Given the description of an element on the screen output the (x, y) to click on. 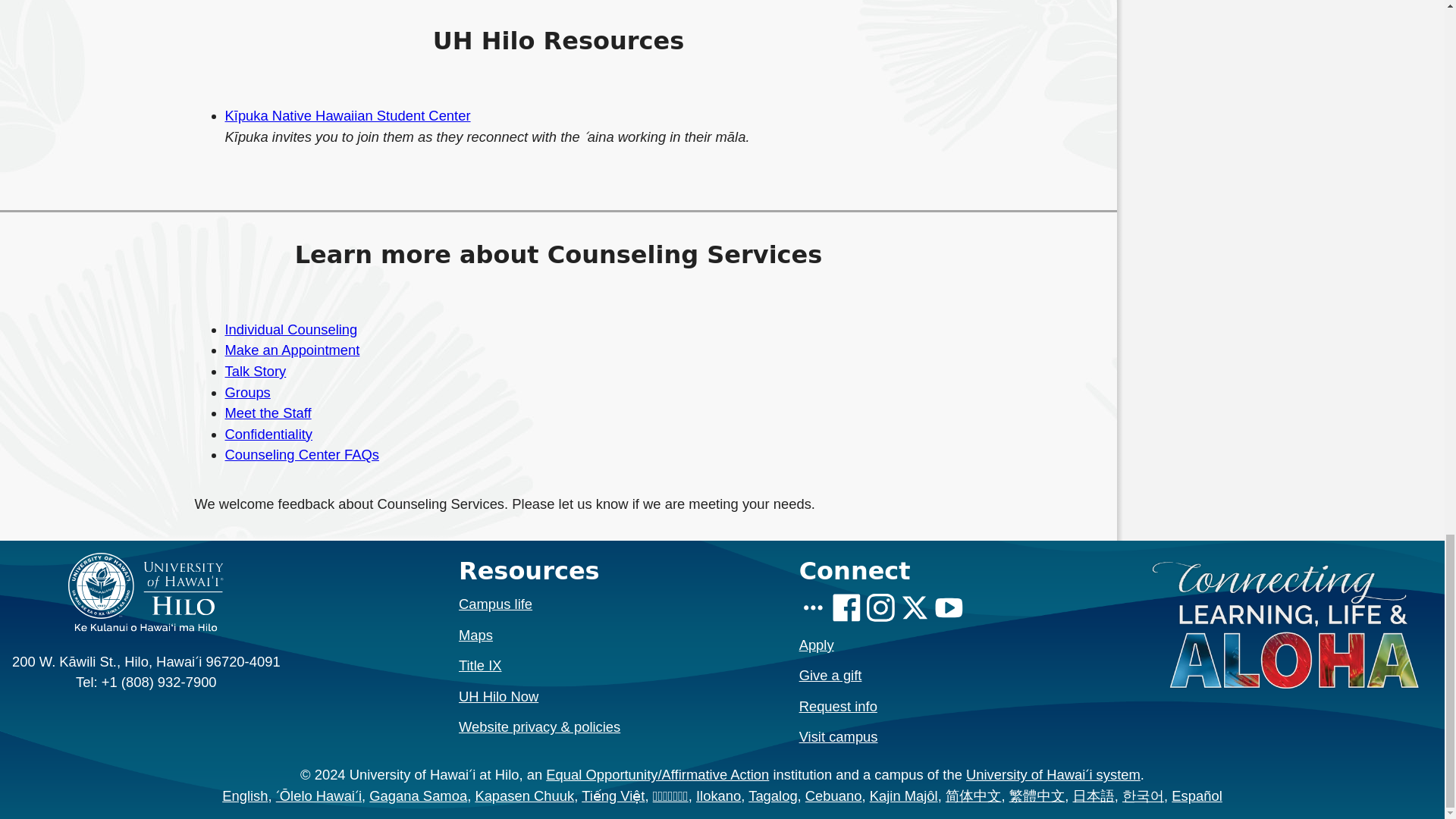
Make an Appointment (291, 349)
Counseling Center FAQs (301, 454)
Meet the Staff (267, 412)
Confidentiality (268, 433)
Groups (246, 392)
Individual Counseling (290, 329)
UH Hilo social media stream (813, 608)
Talk Story (254, 371)
